Given the description of an element on the screen output the (x, y) to click on. 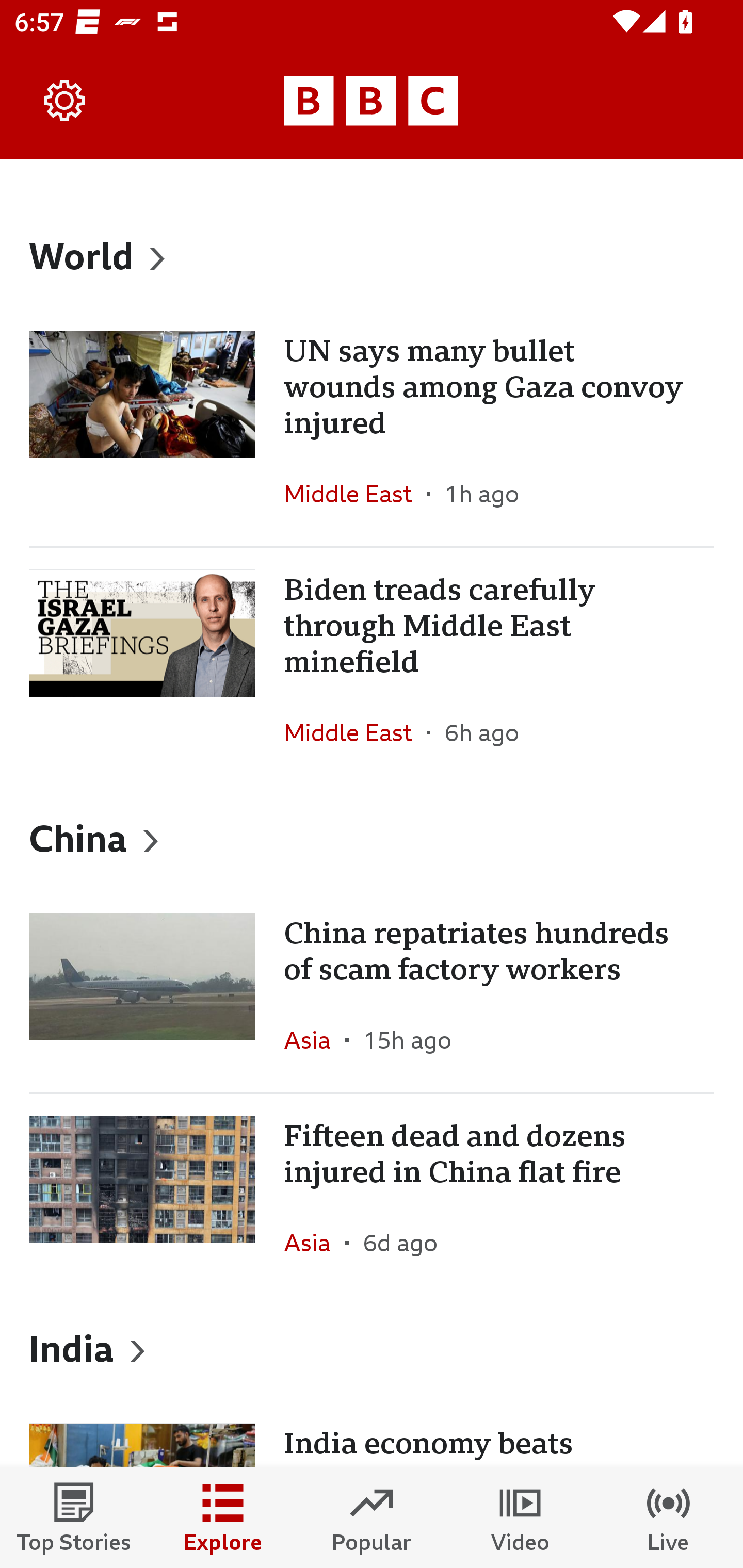
Settings (64, 100)
World, Heading World    (371, 255)
Middle East In the section Middle East (354, 493)
Middle East In the section Middle East (354, 732)
China, Heading China    (371, 837)
Asia In the section Asia (314, 1039)
Asia In the section Asia (314, 1242)
India, Heading India    (371, 1348)
Top Stories (74, 1517)
Popular (371, 1517)
Video (519, 1517)
Live (668, 1517)
